Given the description of an element on the screen output the (x, y) to click on. 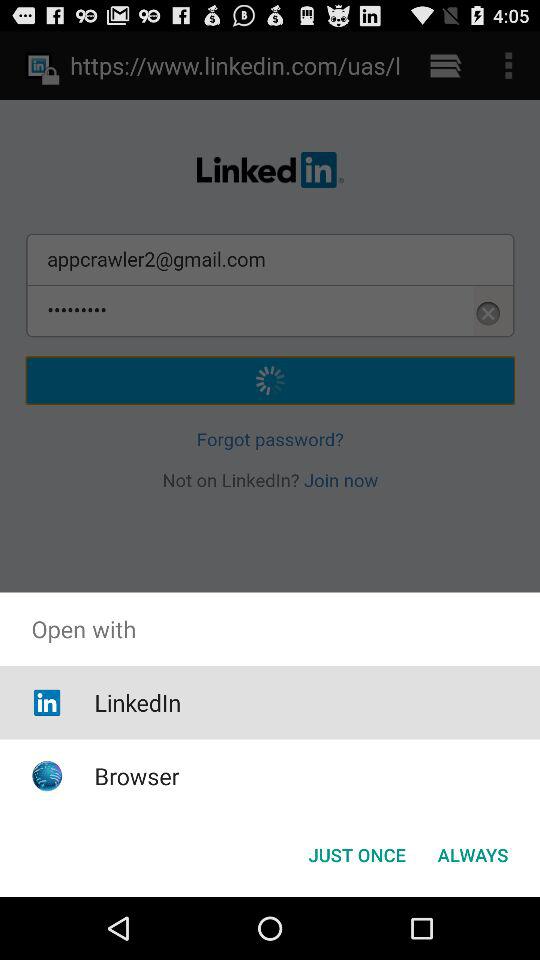
click always at the bottom right corner (472, 854)
